Given the description of an element on the screen output the (x, y) to click on. 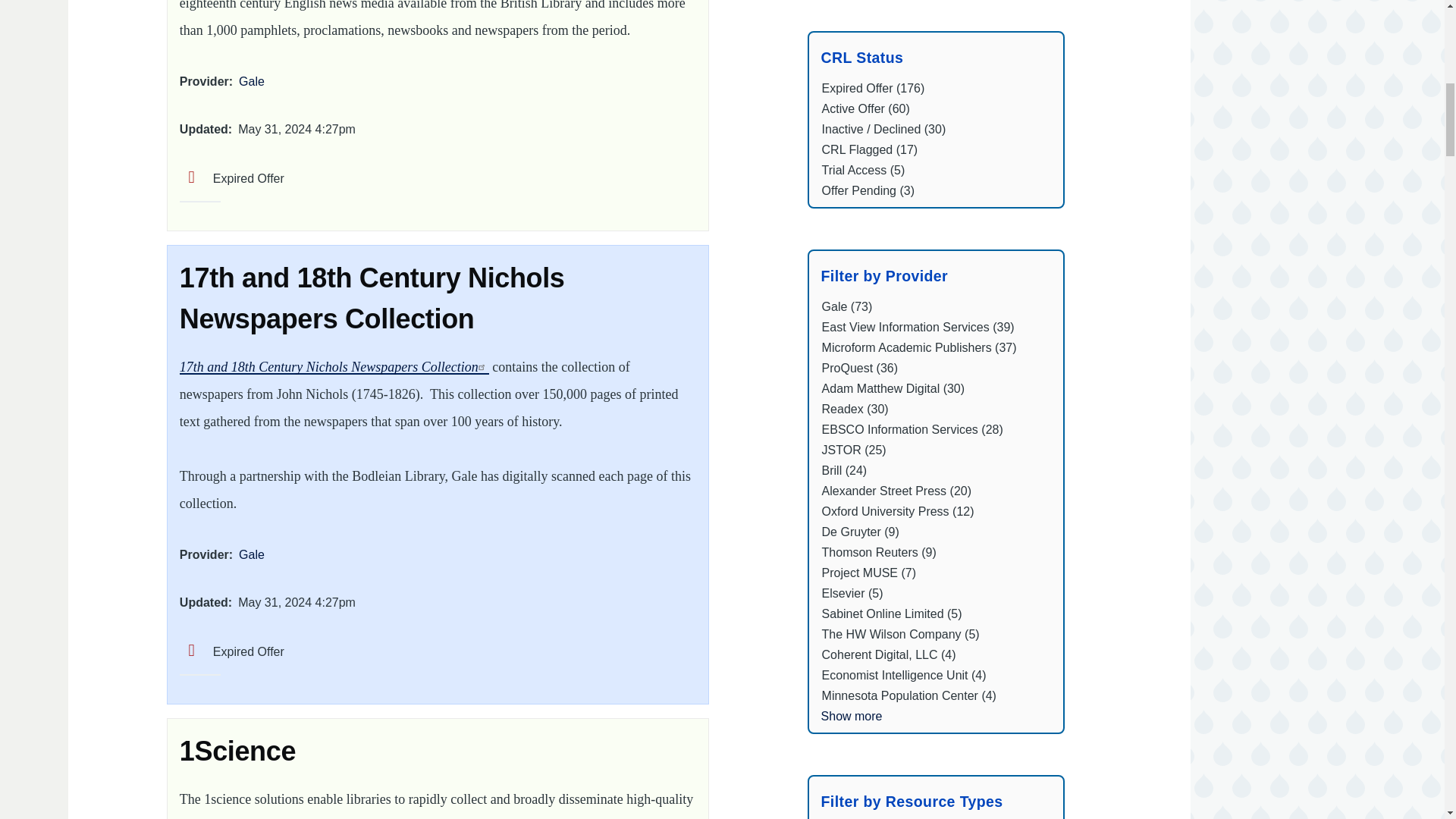
Expired Offer (231, 651)
Expired Offer (231, 178)
